Given the description of an element on the screen output the (x, y) to click on. 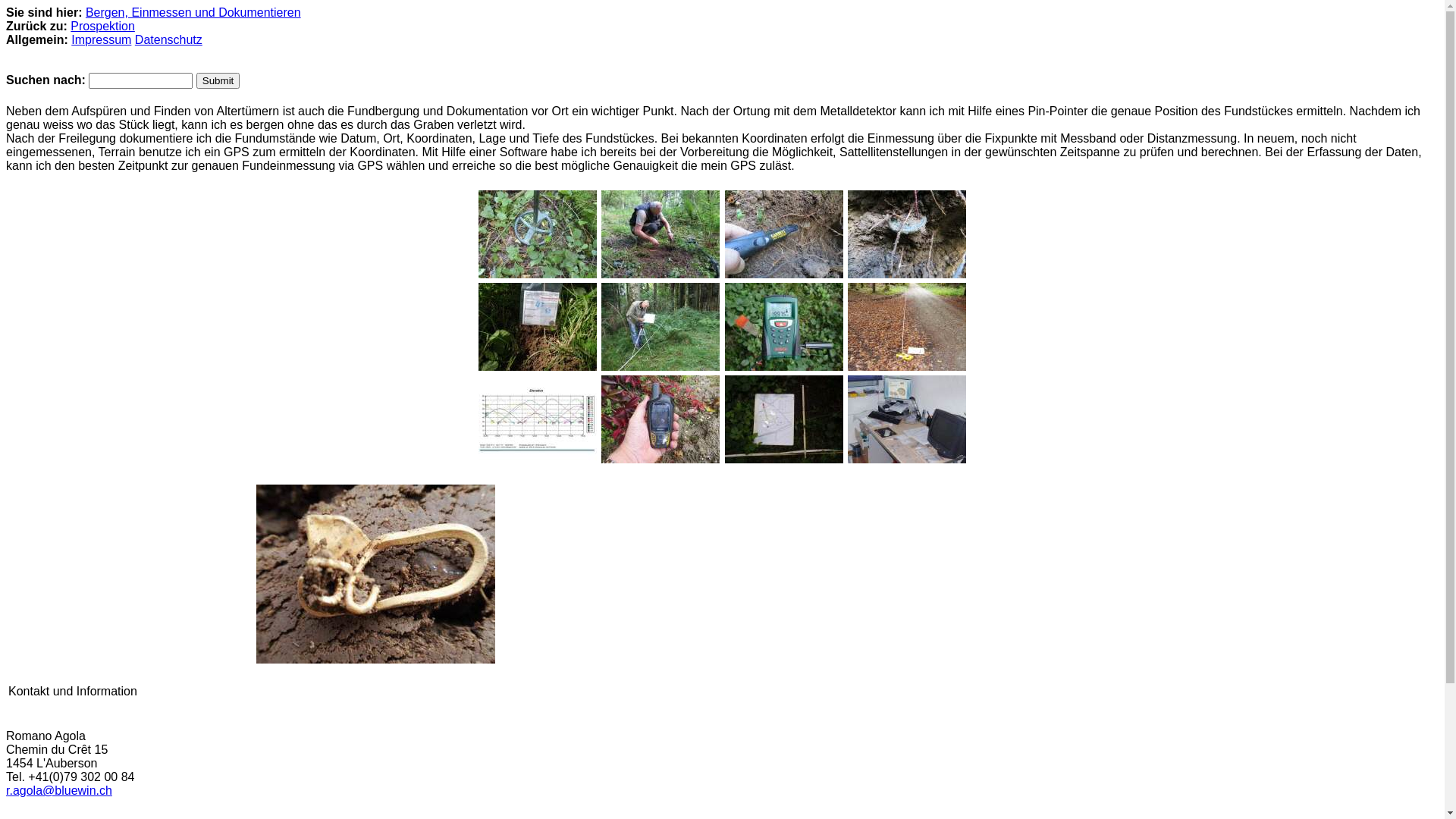
r.agola@bluewin.ch Element type: text (59, 790)
Impressum Element type: text (101, 39)
Datenschutz Element type: text (168, 39)
Bergen, Einmessen und Dokumentieren Element type: text (193, 12)
Prospektion Element type: text (102, 25)
